Given the description of an element on the screen output the (x, y) to click on. 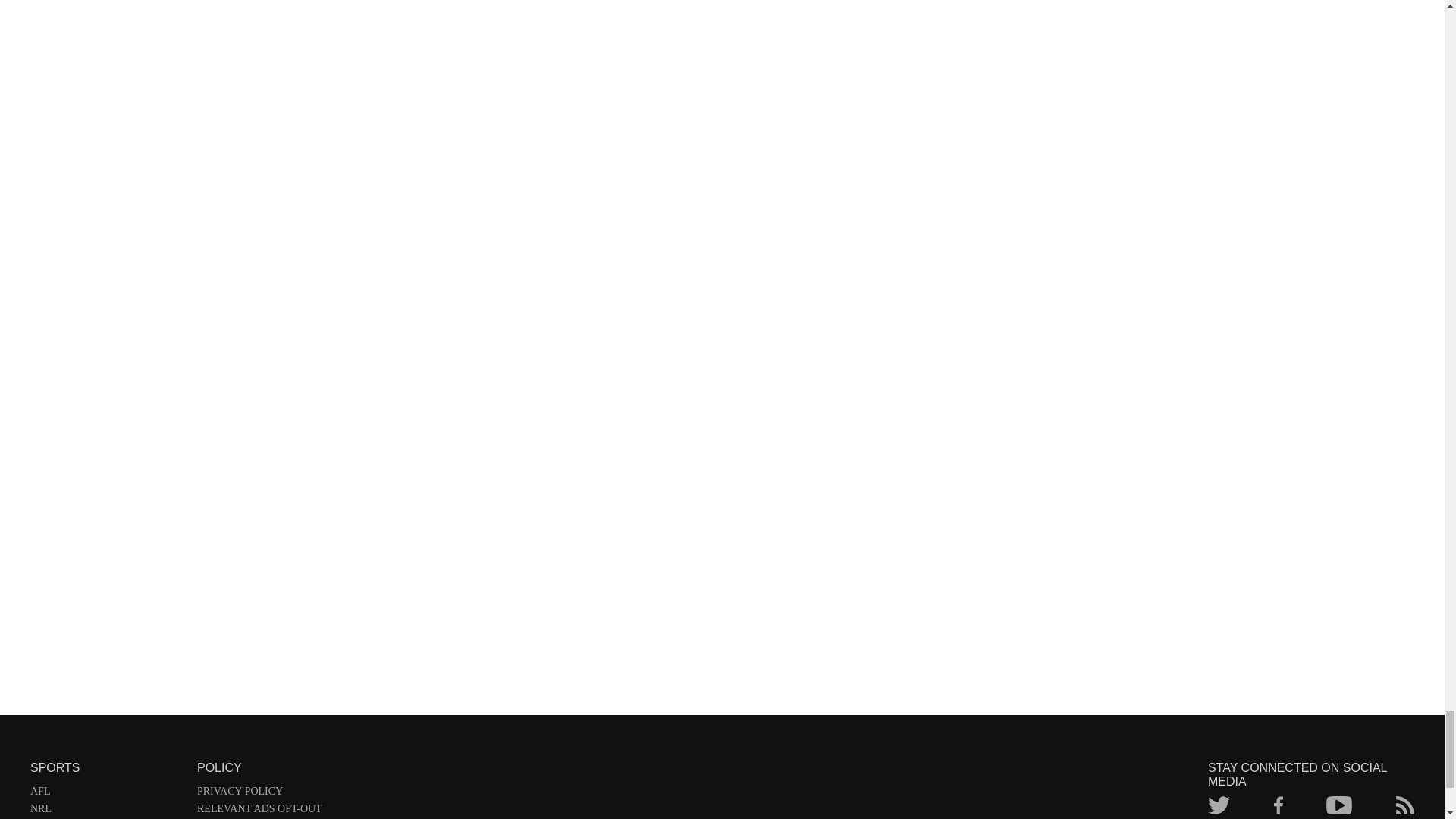
PRIVACY POLICY (308, 794)
RELEVANT ADS OPT-OUT (308, 811)
AFL (106, 794)
NRL (106, 811)
